Given the description of an element on the screen output the (x, y) to click on. 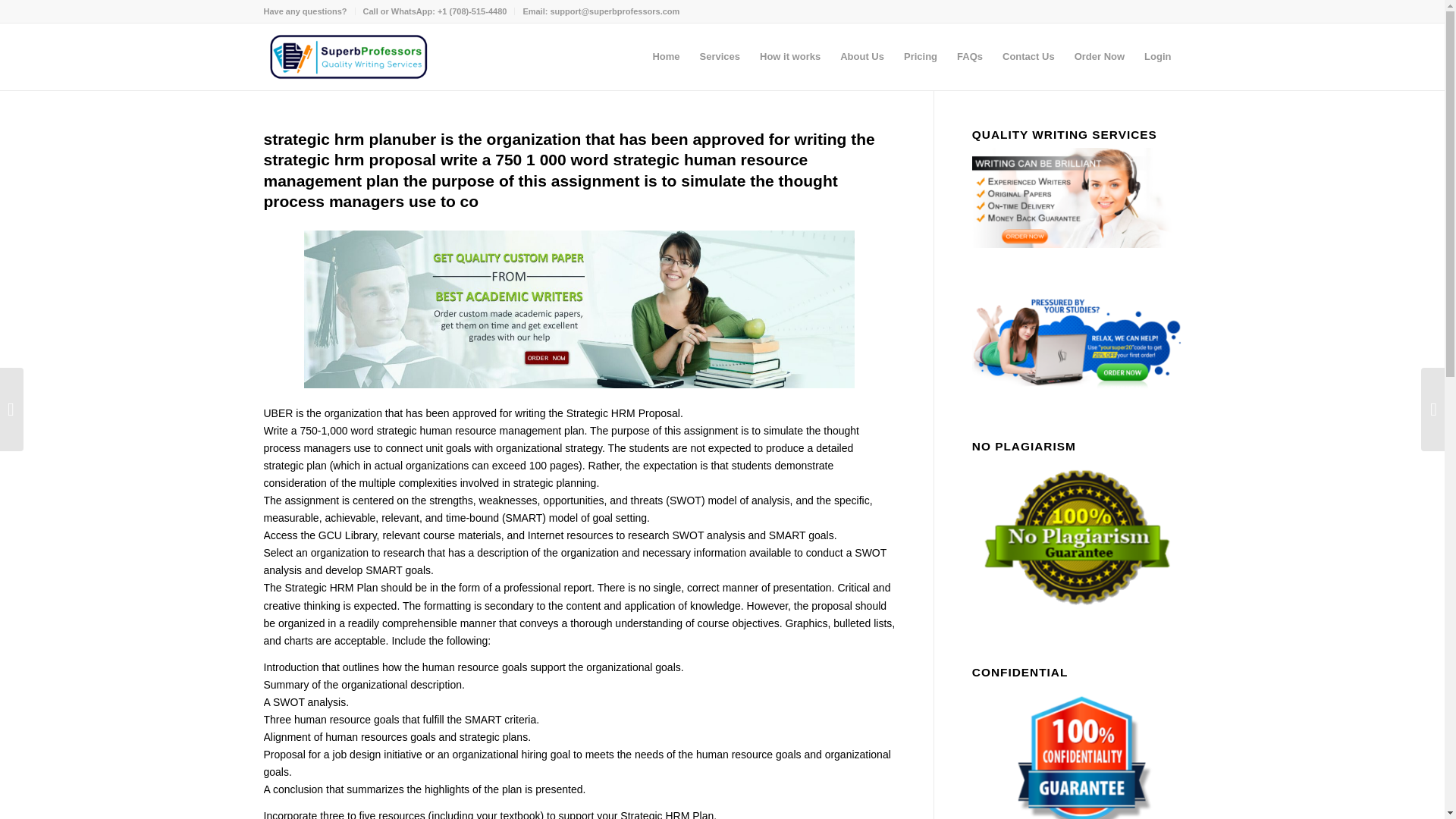
Order Now (1099, 56)
Services (720, 56)
Have any questions? (305, 11)
About Us (861, 56)
Contact Us (1028, 56)
How it works (789, 56)
